Given the description of an element on the screen output the (x, y) to click on. 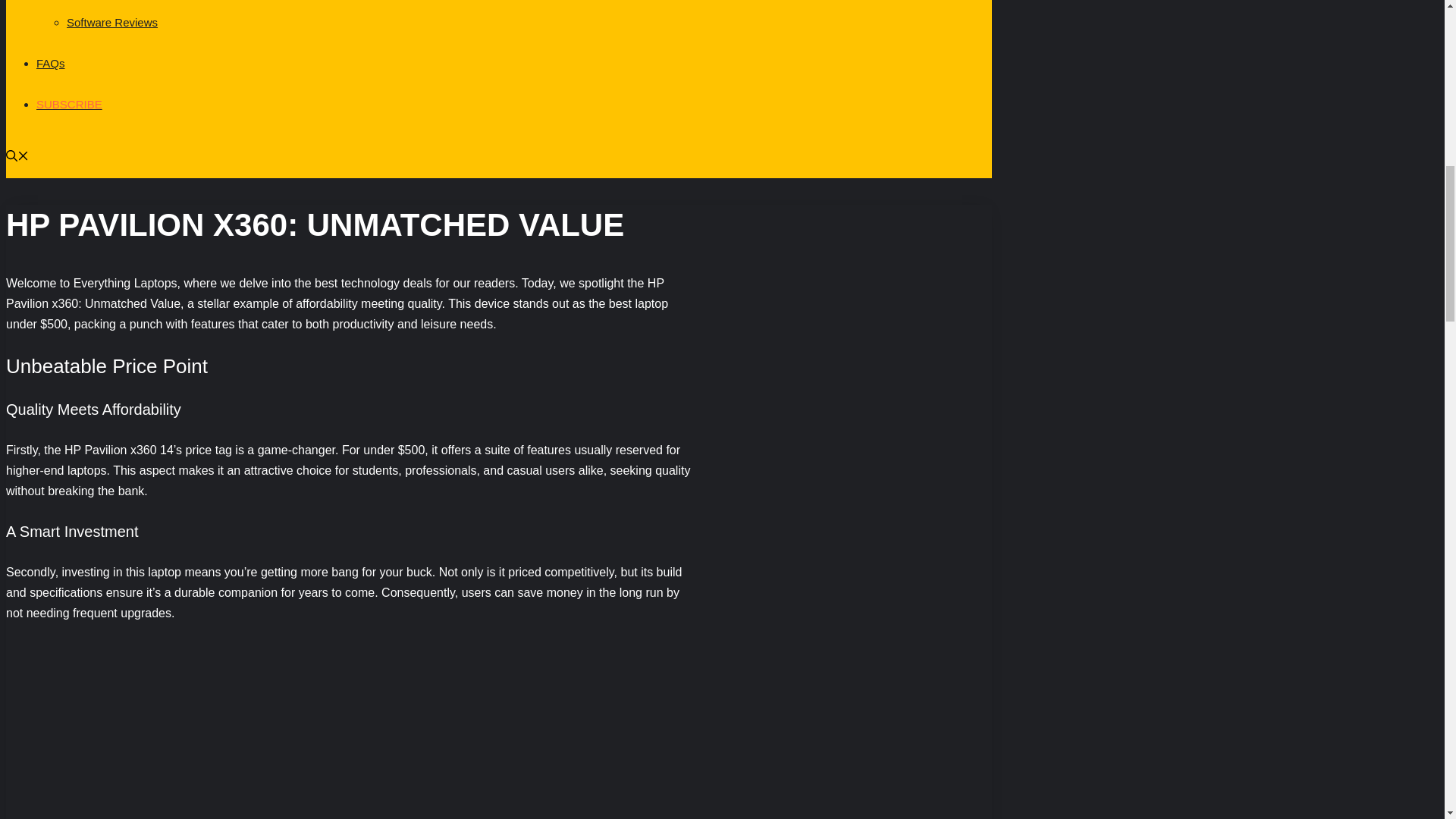
SUBSCRIBE (68, 103)
Scroll back to top (1406, 720)
FAQs (50, 62)
Software Reviews (111, 21)
